Given the description of an element on the screen output the (x, y) to click on. 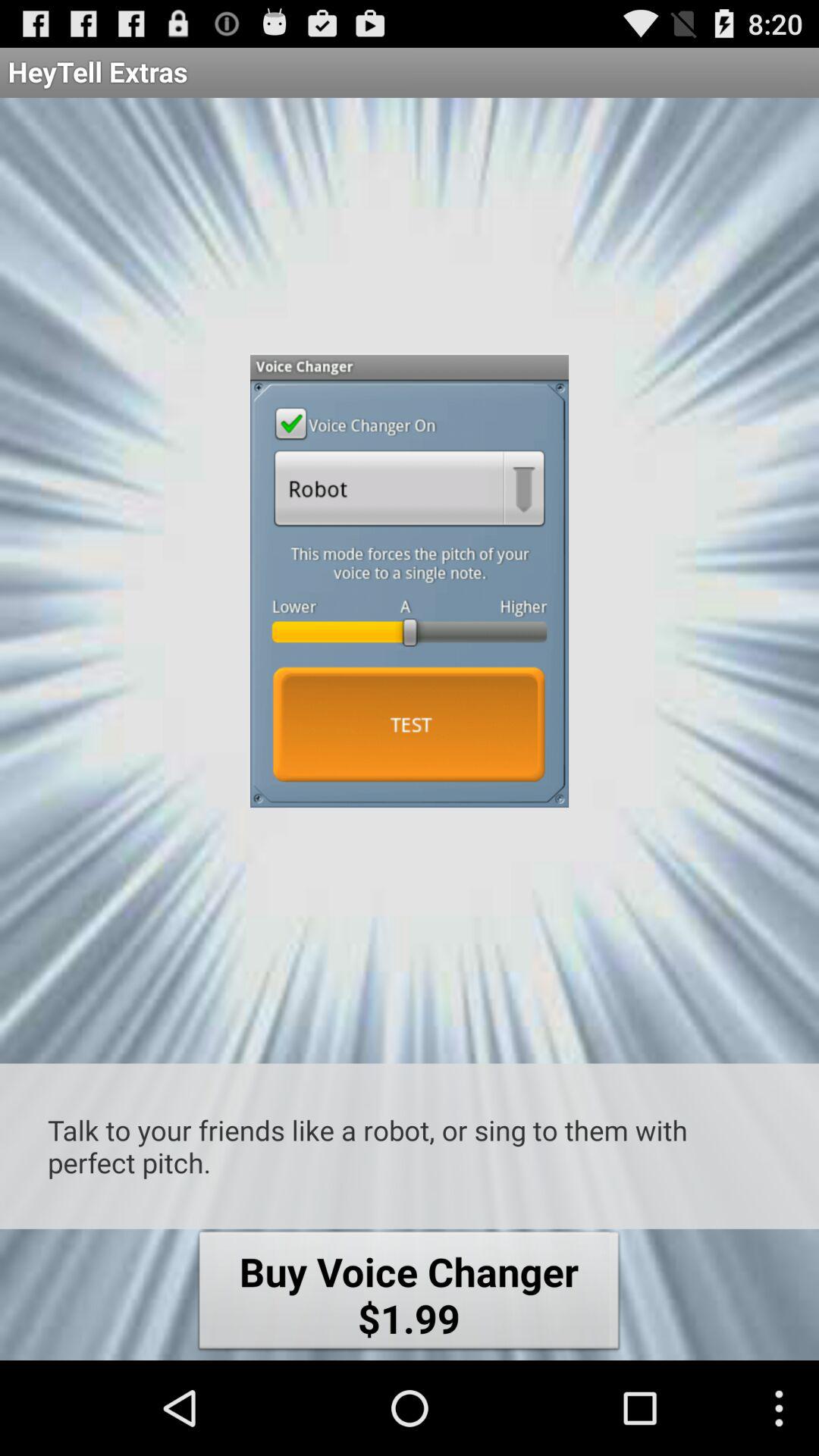
scroll to buy voice changer (408, 1294)
